Given the description of an element on the screen output the (x, y) to click on. 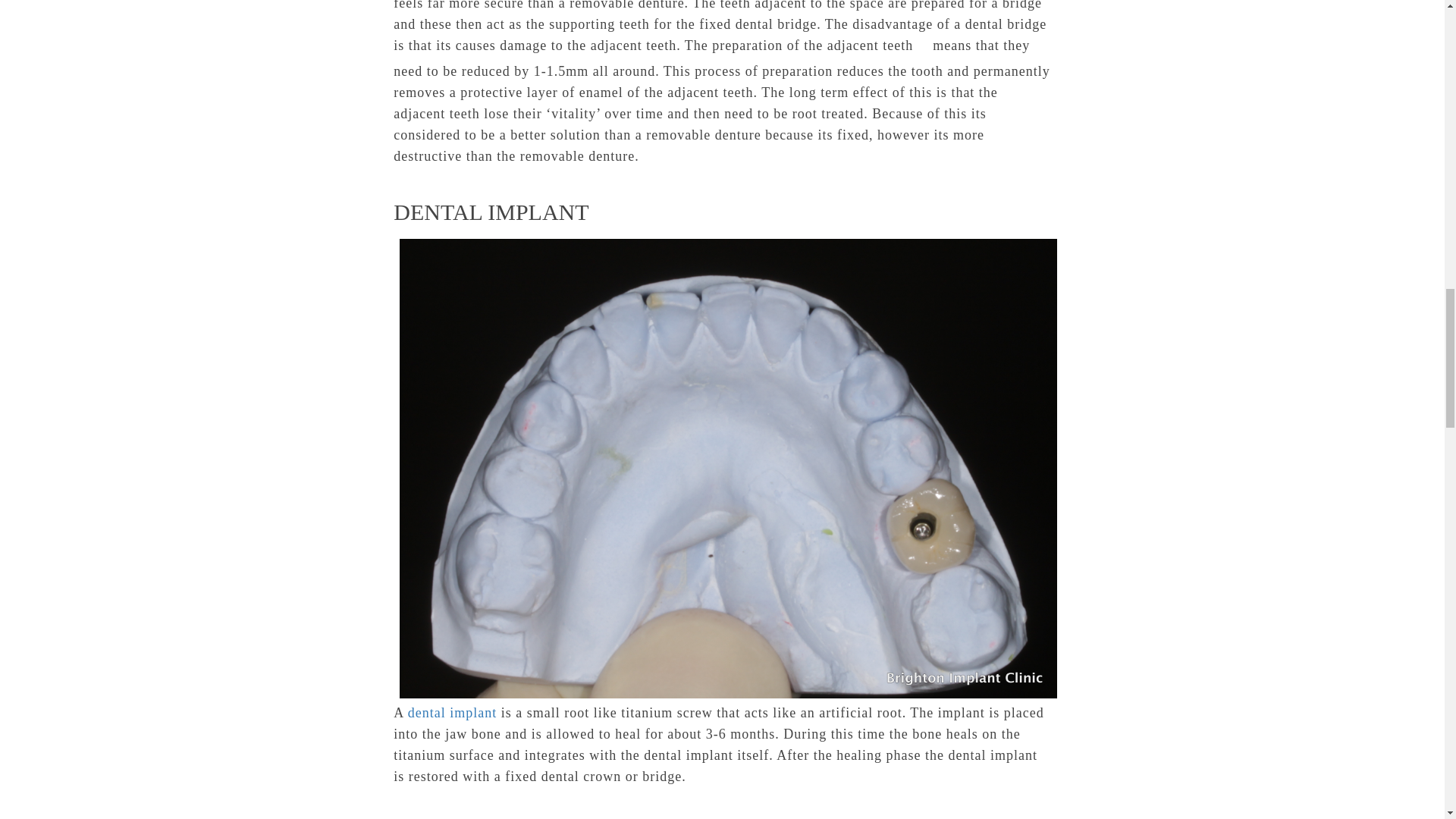
Dental Implant (451, 712)
